Given the description of an element on the screen output the (x, y) to click on. 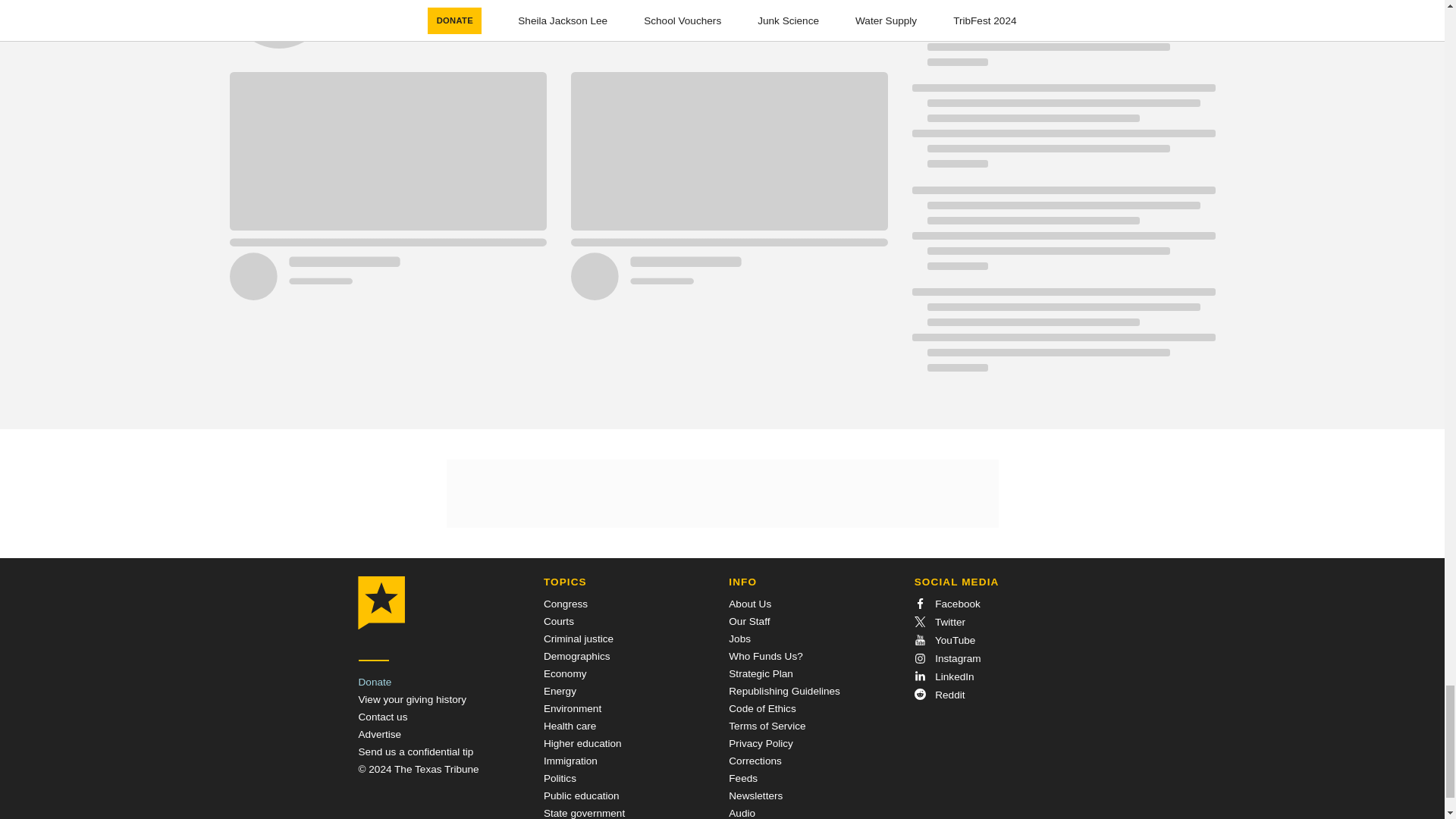
Newsletters (756, 795)
Advertise (379, 734)
Audio (742, 813)
Republishing Guidelines (784, 690)
Facebook (946, 603)
Who Funds Us? (765, 655)
View your giving history (411, 699)
About Us (750, 603)
Loading indicator (1062, 337)
Loading indicator (557, 33)
Terms of Service (767, 726)
Corrections (755, 760)
Privacy Policy (761, 743)
Code of Ethics (761, 708)
Loading indicator (1062, 133)
